Given the description of an element on the screen output the (x, y) to click on. 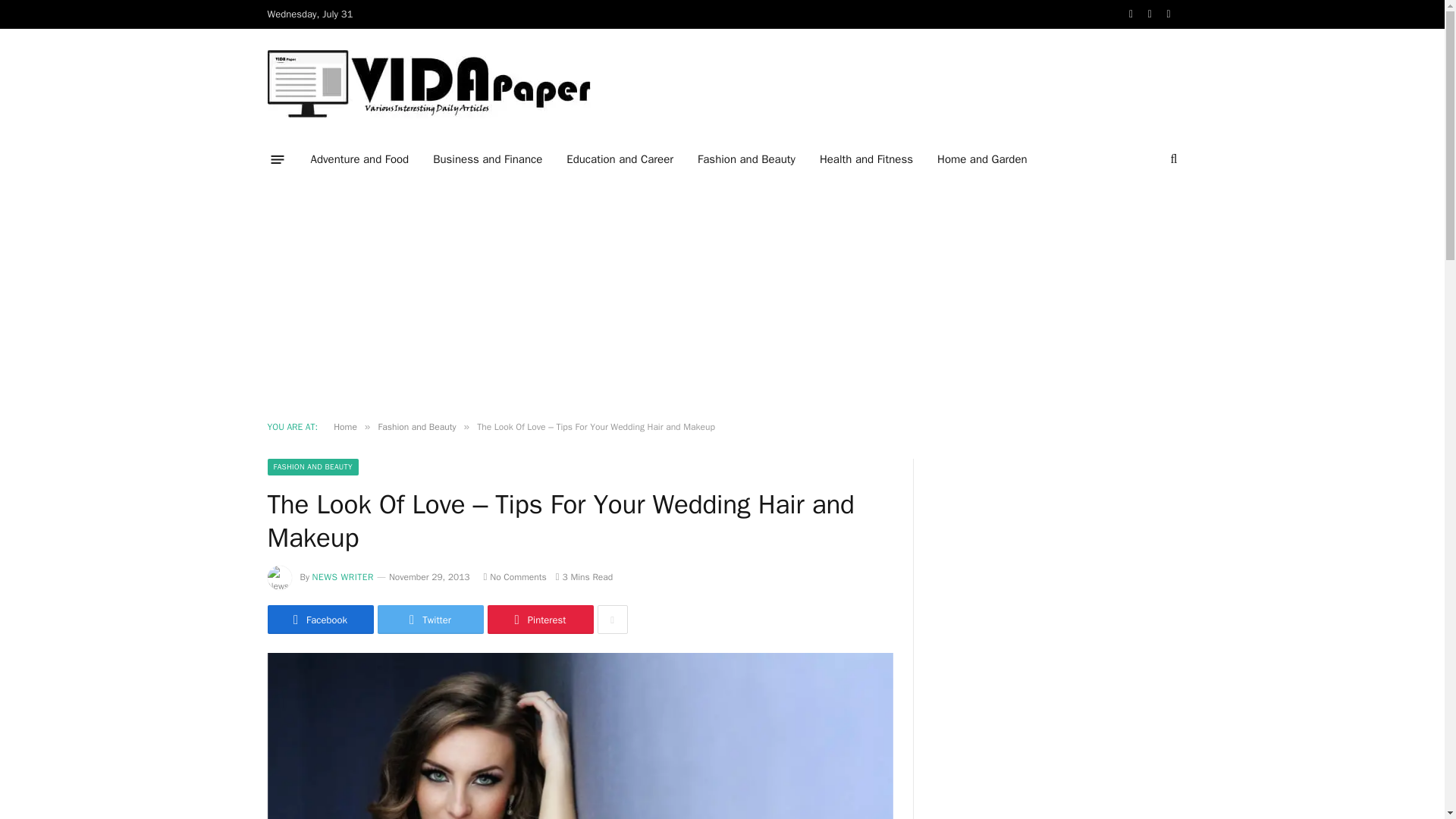
NEWS WRITER (343, 576)
Adventure and Food (360, 159)
Home (344, 426)
Show More Social Sharing (611, 619)
Facebook (319, 619)
Share on Pinterest (539, 619)
FASHION AND BEAUTY (312, 466)
Twitter (430, 619)
Fashion and Beauty (746, 159)
Share on Facebook (319, 619)
Health and Fitness (866, 159)
No Comments (515, 576)
Posts by News Writer (343, 576)
Business and Finance (487, 159)
